Given the description of an element on the screen output the (x, y) to click on. 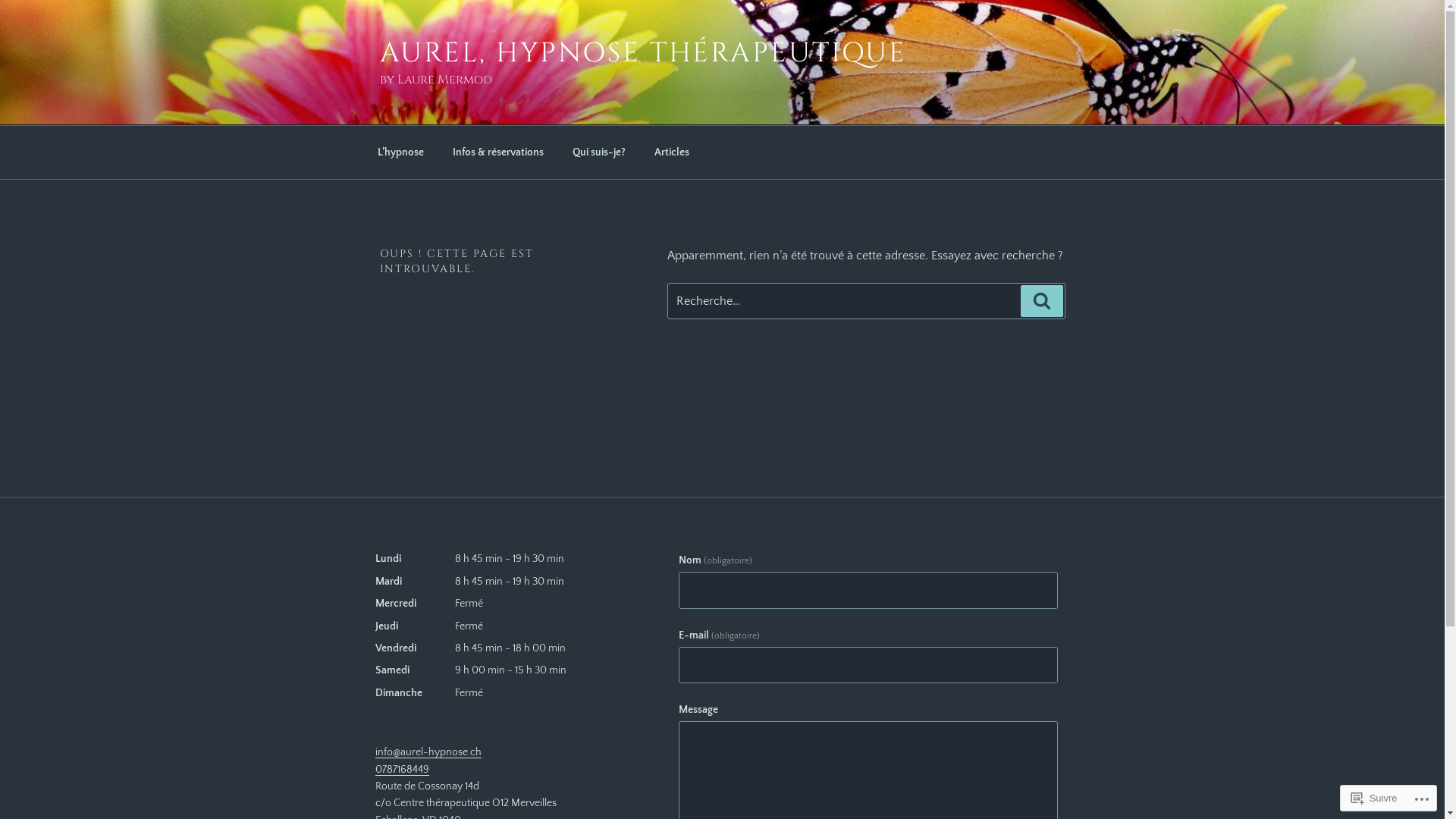
info@aurel-hypnose.ch Element type: text (427, 752)
Qui suis-je? Element type: text (599, 151)
Articles Element type: text (671, 151)
0787168449 Element type: text (401, 768)
Suivre Element type: text (1374, 797)
